Given the description of an element on the screen output the (x, y) to click on. 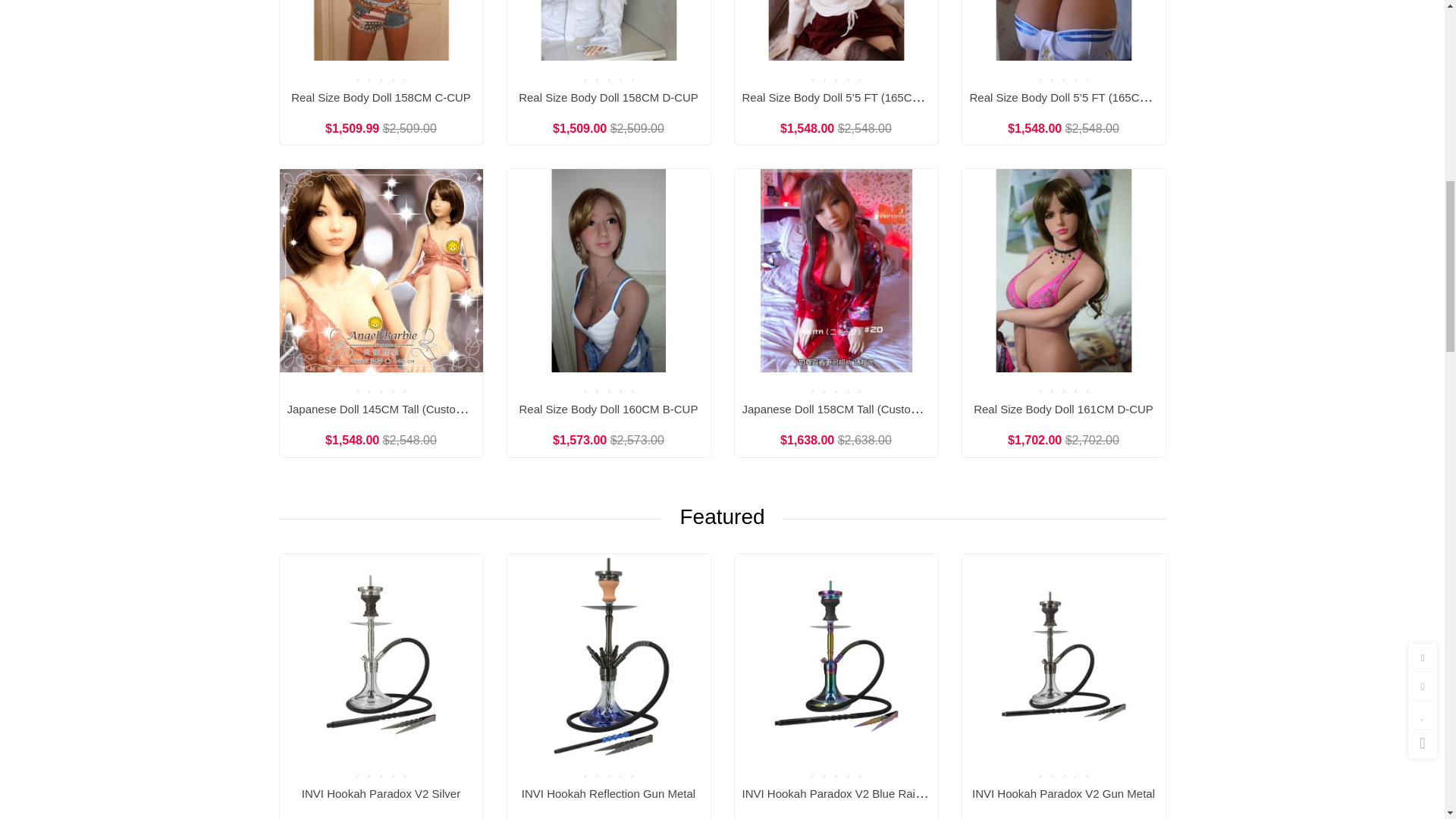
Real Size Body Doll 158CM D-CUP (608, 30)
Real Size Body Doll 158CM C-CUP (380, 97)
Real Size Body Doll 158CM C-CUP (380, 30)
